Given the description of an element on the screen output the (x, y) to click on. 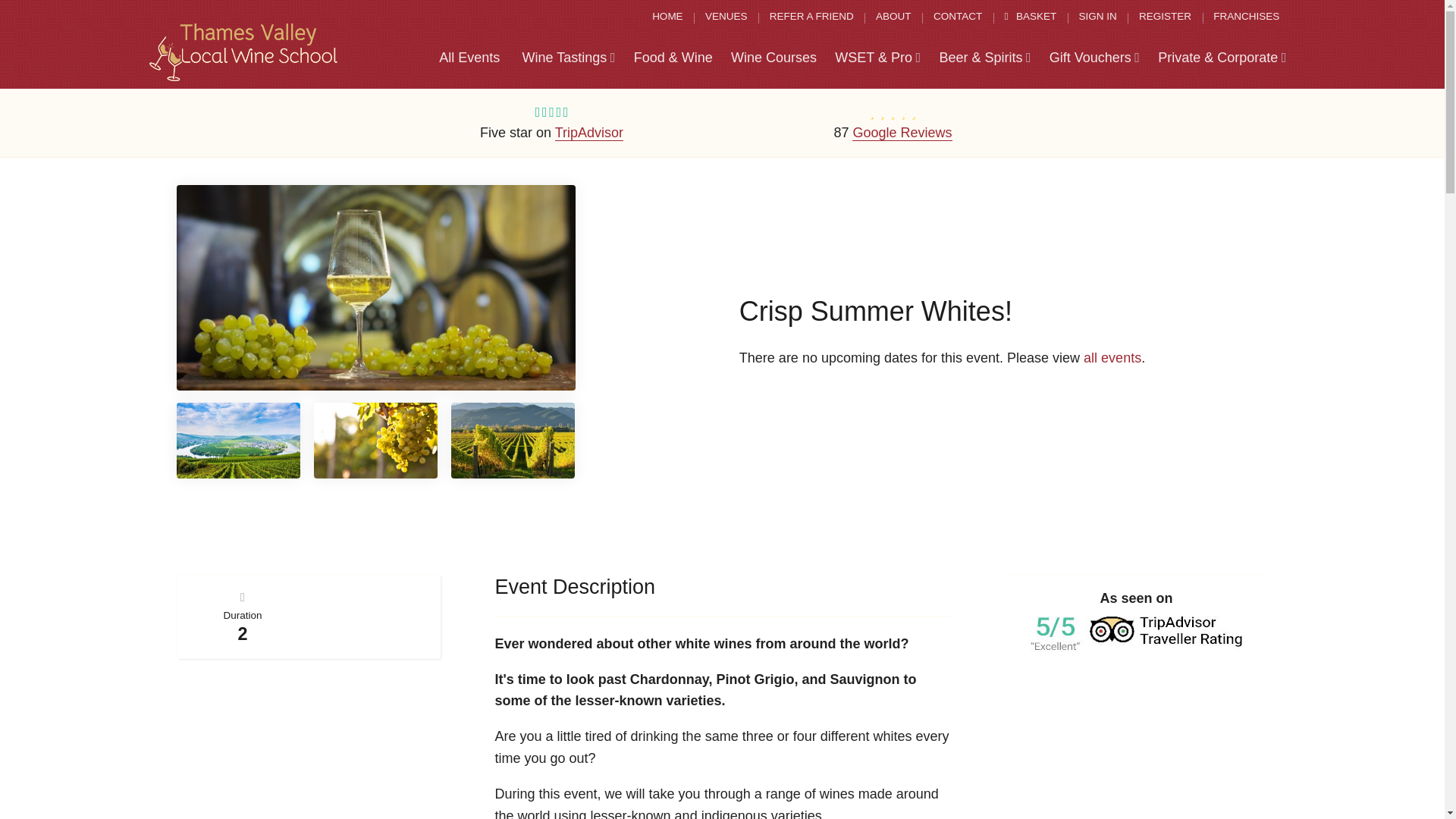
VENUES (726, 17)
REGISTER (1164, 17)
FRANCHISES (1246, 17)
SIGN IN (1096, 17)
REFER A FRIEND (811, 17)
ABOUT (893, 17)
HOME (668, 17)
CONTACT (957, 17)
Wine Tastings (568, 58)
All Events (468, 58)
